Given the description of an element on the screen output the (x, y) to click on. 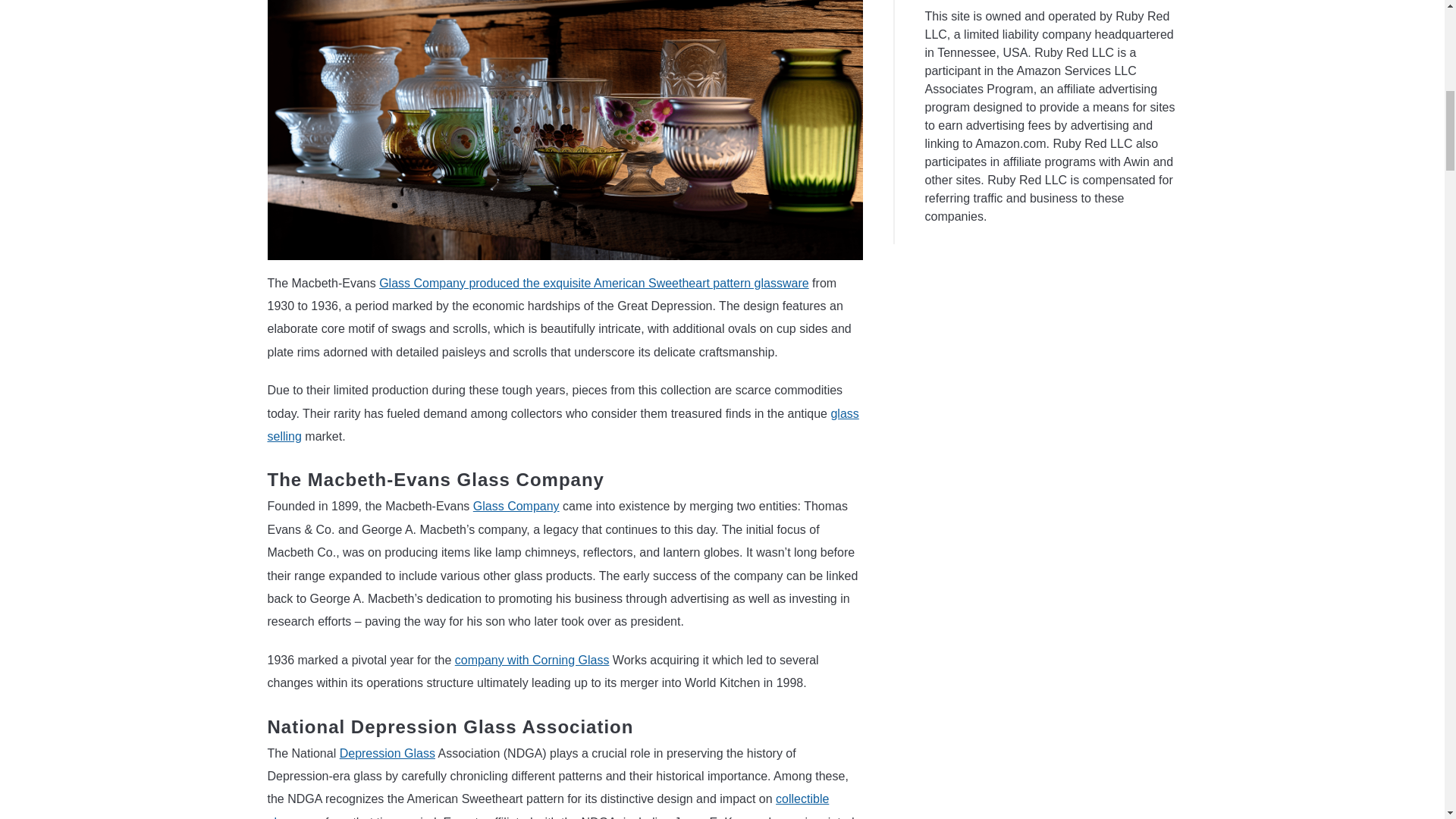
glass selling (562, 425)
company with Corning Glass (532, 659)
Glass Company (516, 505)
Depression Glass (387, 753)
